Given the description of an element on the screen output the (x, y) to click on. 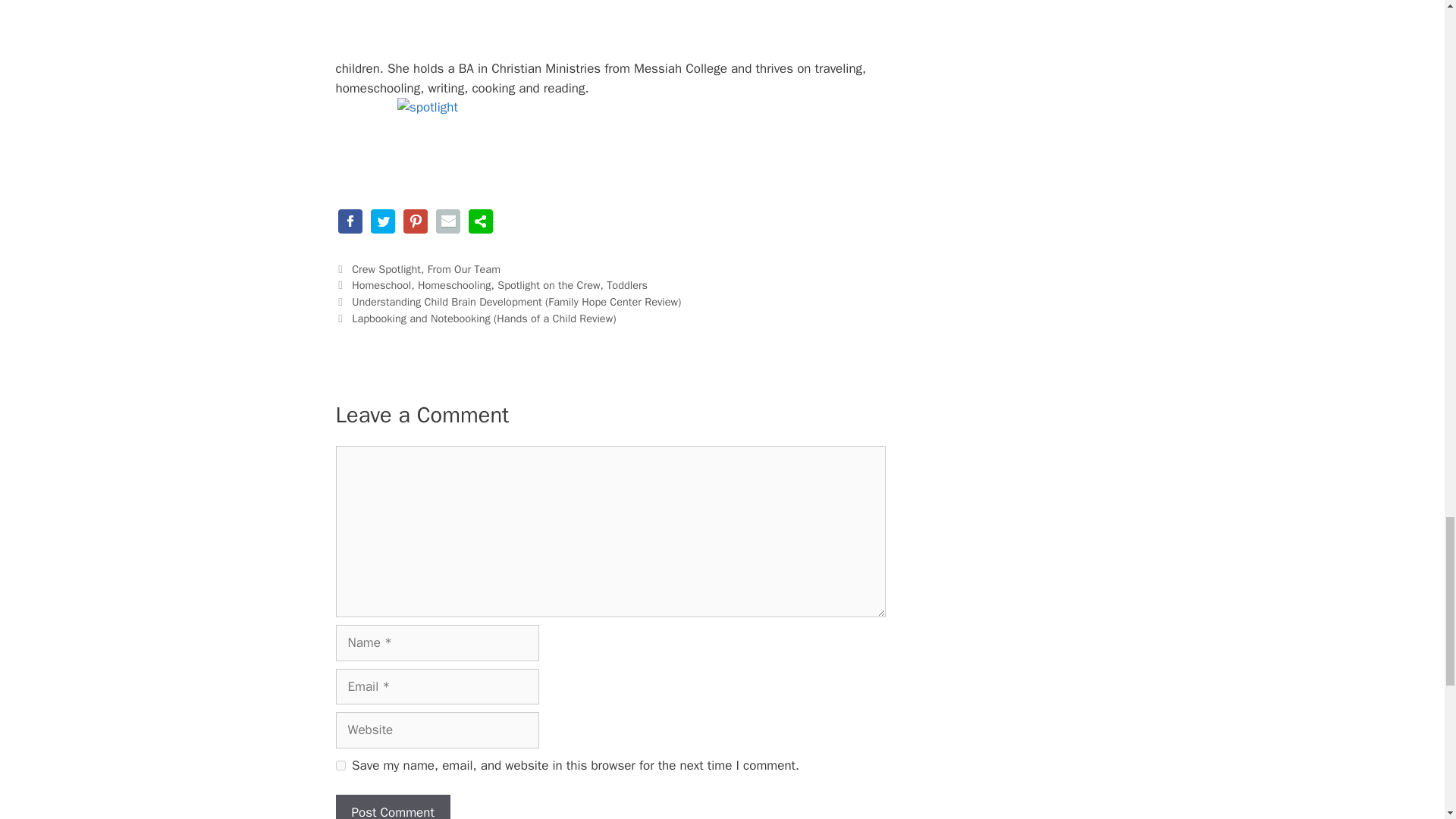
Post Comment (391, 806)
yes (339, 765)
From Our Team (464, 269)
Spotlight on the Crew (548, 284)
Post Comment (391, 806)
Homeschooling (454, 284)
Crew Spotlight (386, 269)
Homeschool (381, 284)
Toddlers (627, 284)
